Given the description of an element on the screen output the (x, y) to click on. 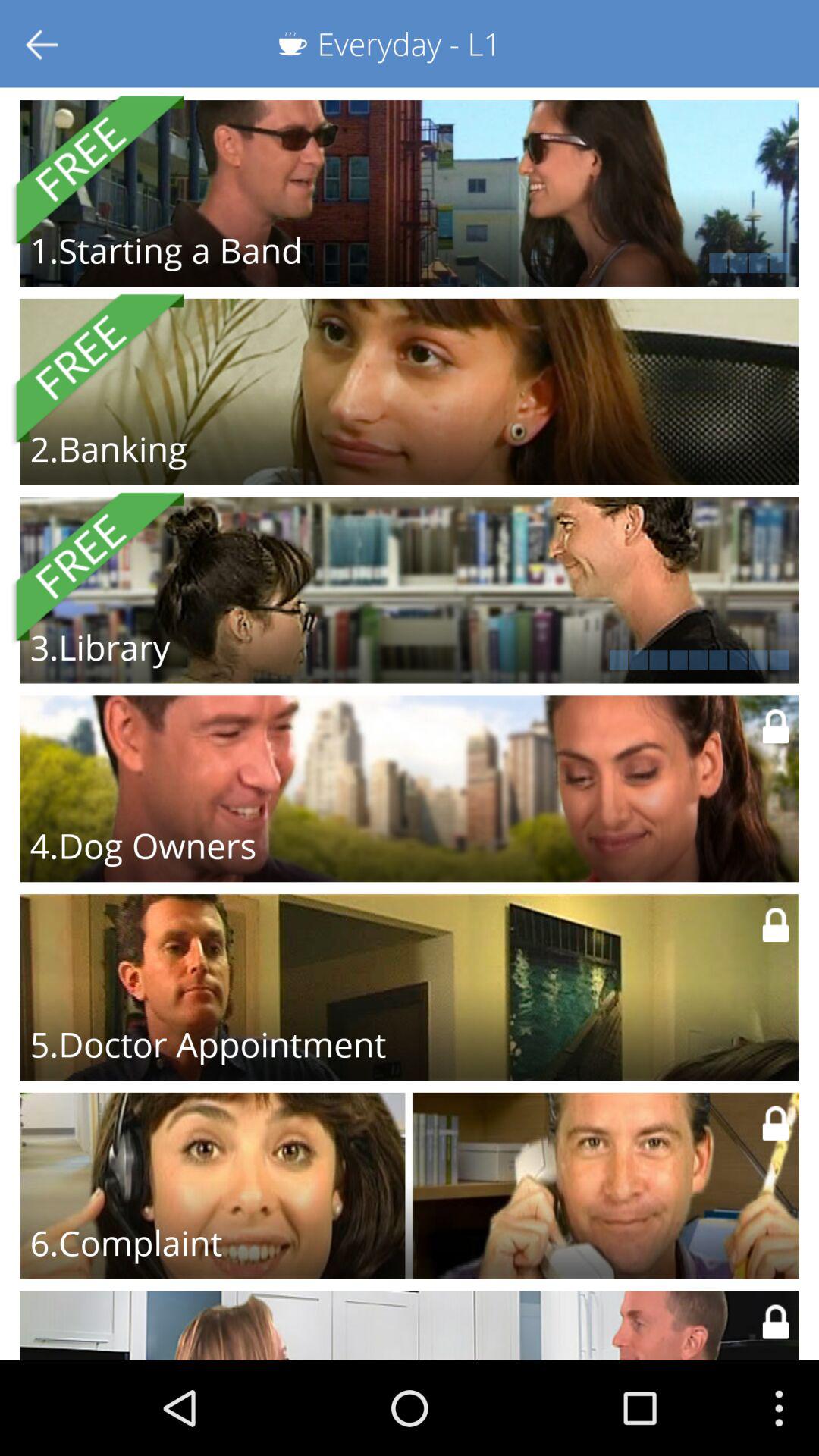
launch the 2.banking item (108, 448)
